Given the description of an element on the screen output the (x, y) to click on. 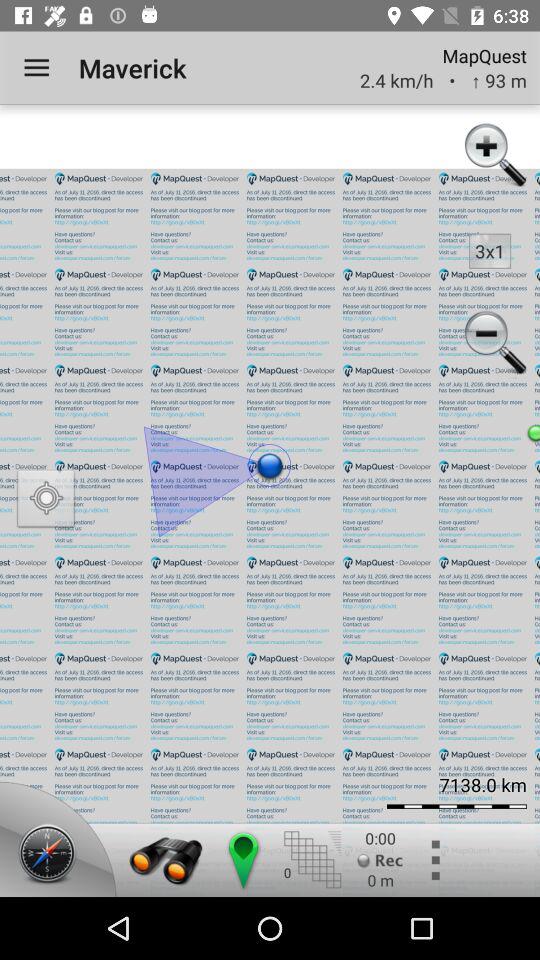
select icon on the left (45, 500)
